Given the description of an element on the screen output the (x, y) to click on. 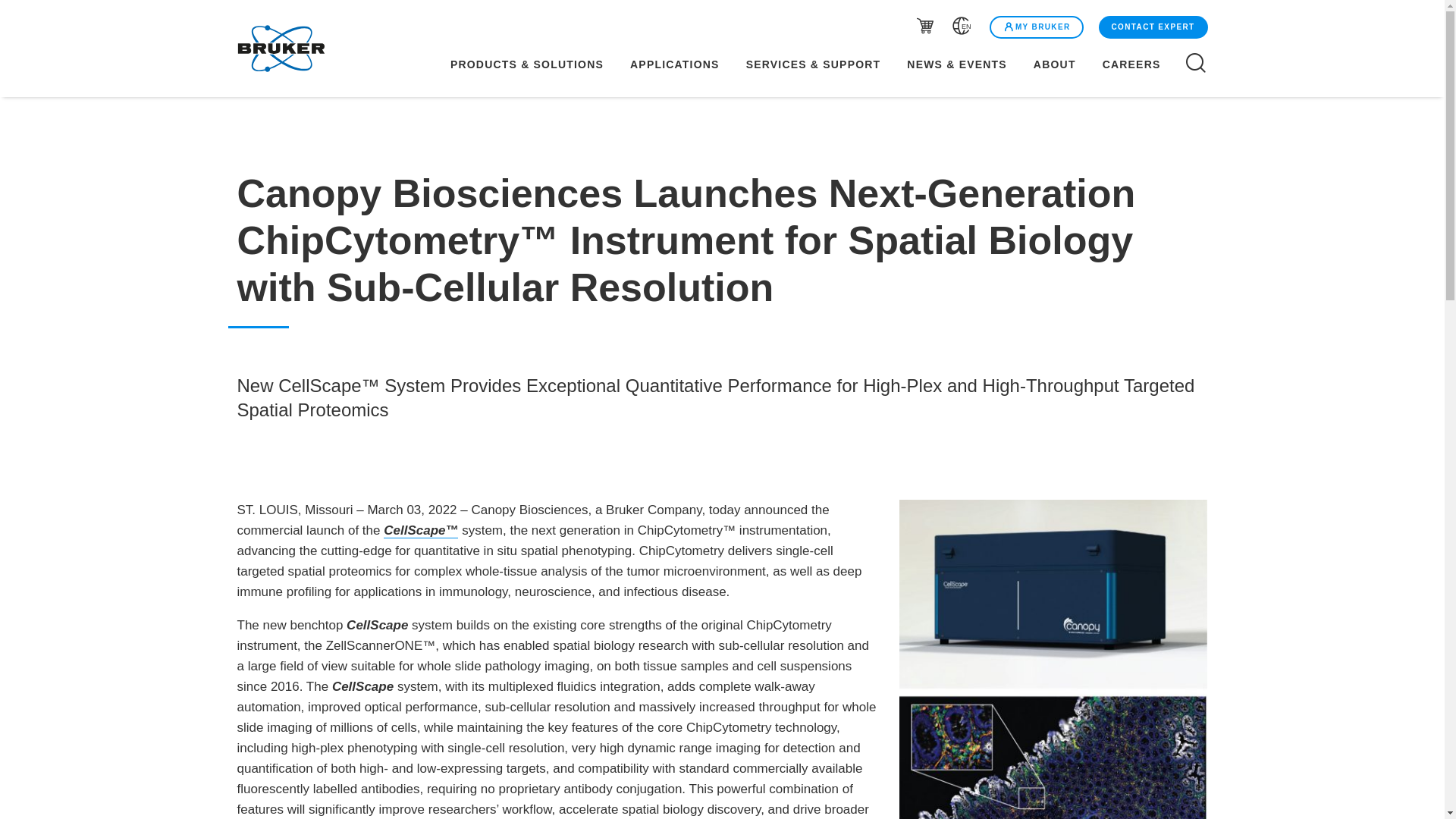
CONTACT EXPERT (1153, 26)
CONTACT EXPERT (1151, 27)
MY BRUKER (1036, 26)
